Given the description of an element on the screen output the (x, y) to click on. 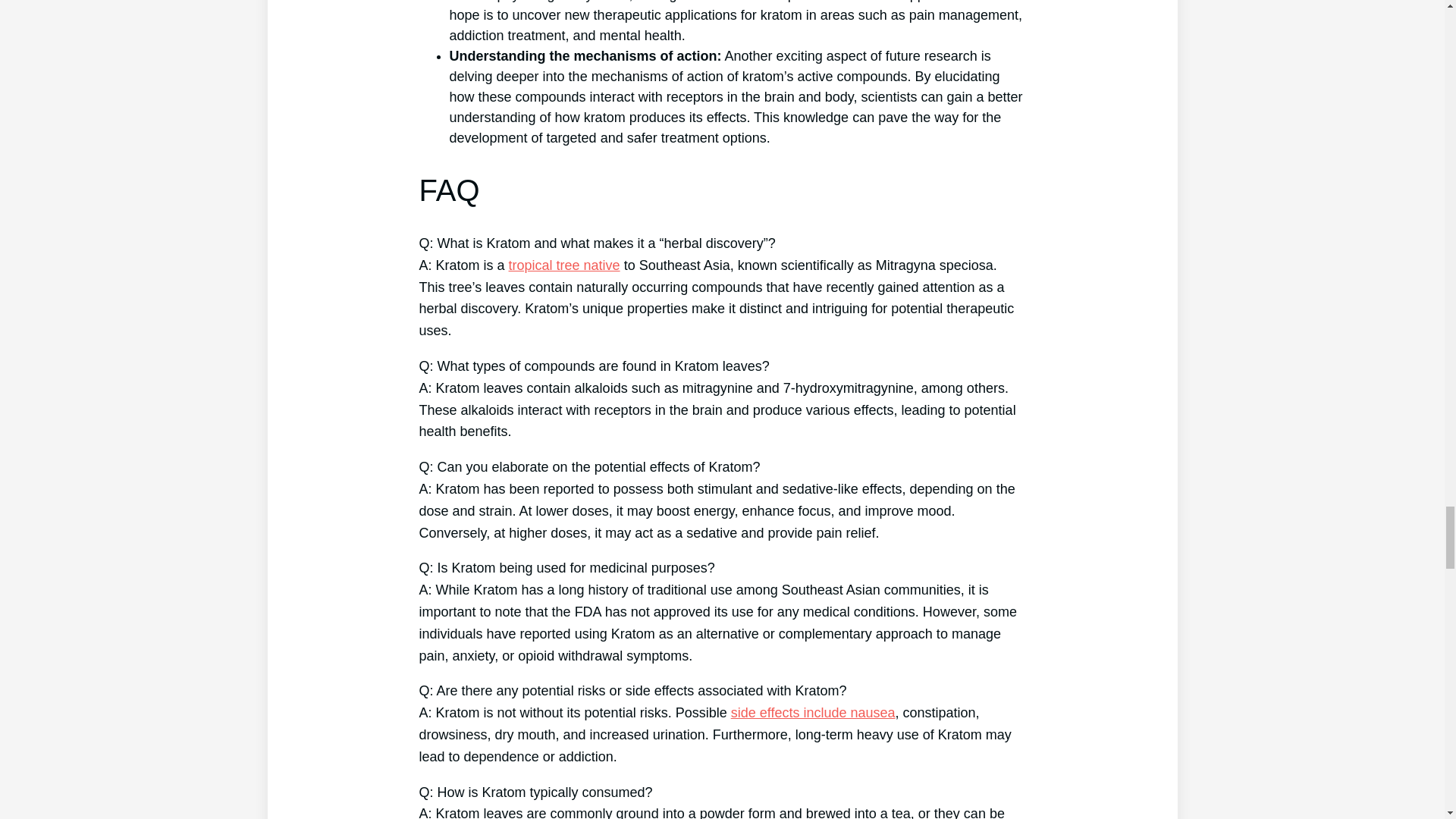
side effects include nausea (812, 712)
tropical tree native (564, 264)
